Given the description of an element on the screen output the (x, y) to click on. 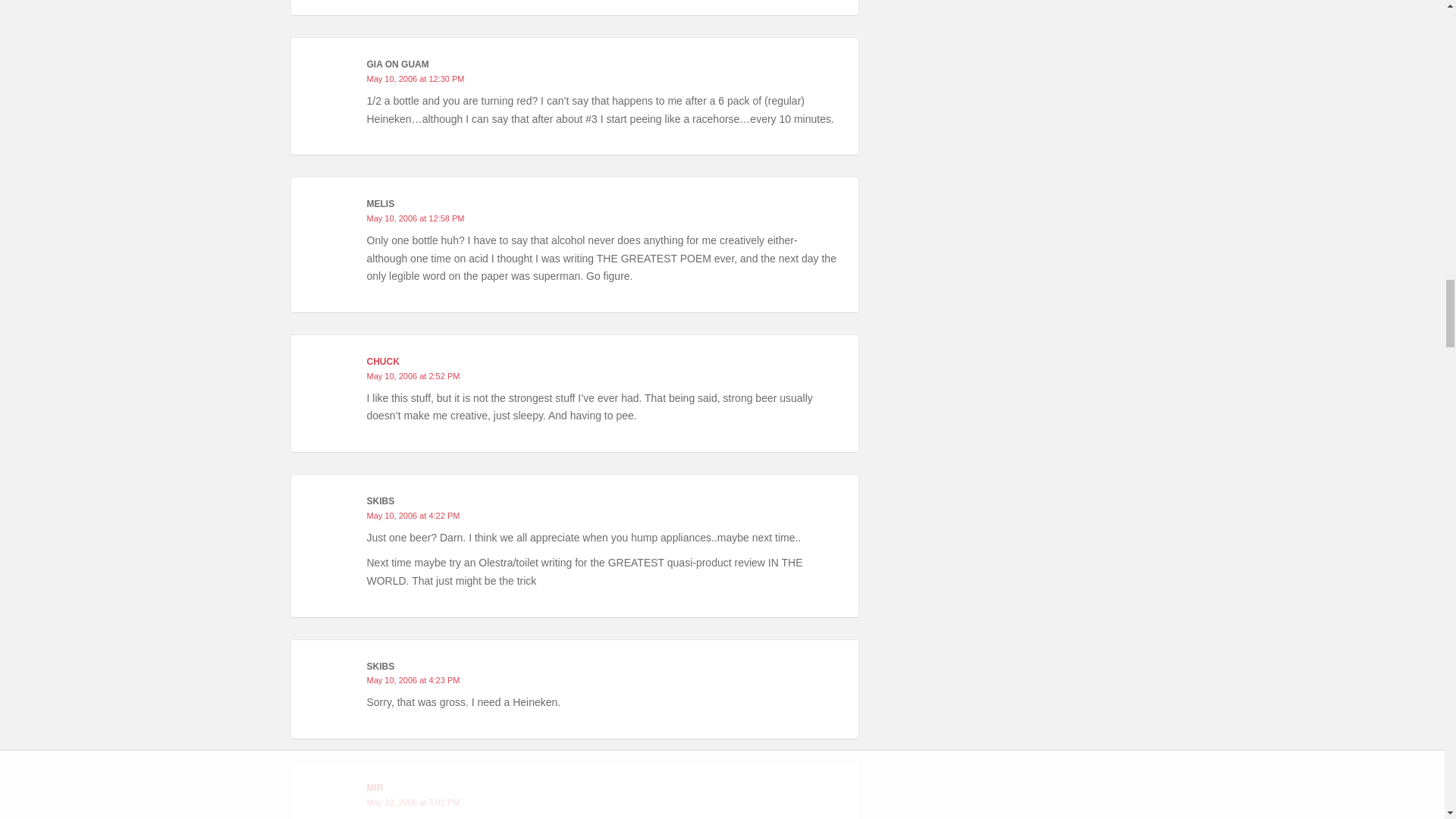
May 10, 2006 at 4:23 PM (413, 679)
MIR (375, 787)
CHUCK (382, 361)
May 10, 2006 at 4:22 PM (413, 515)
May 10, 2006 at 12:58 PM (415, 217)
May 10, 2006 at 5:01 PM (413, 801)
May 10, 2006 at 12:30 PM (415, 78)
May 10, 2006 at 2:52 PM (413, 375)
